Given the description of an element on the screen output the (x, y) to click on. 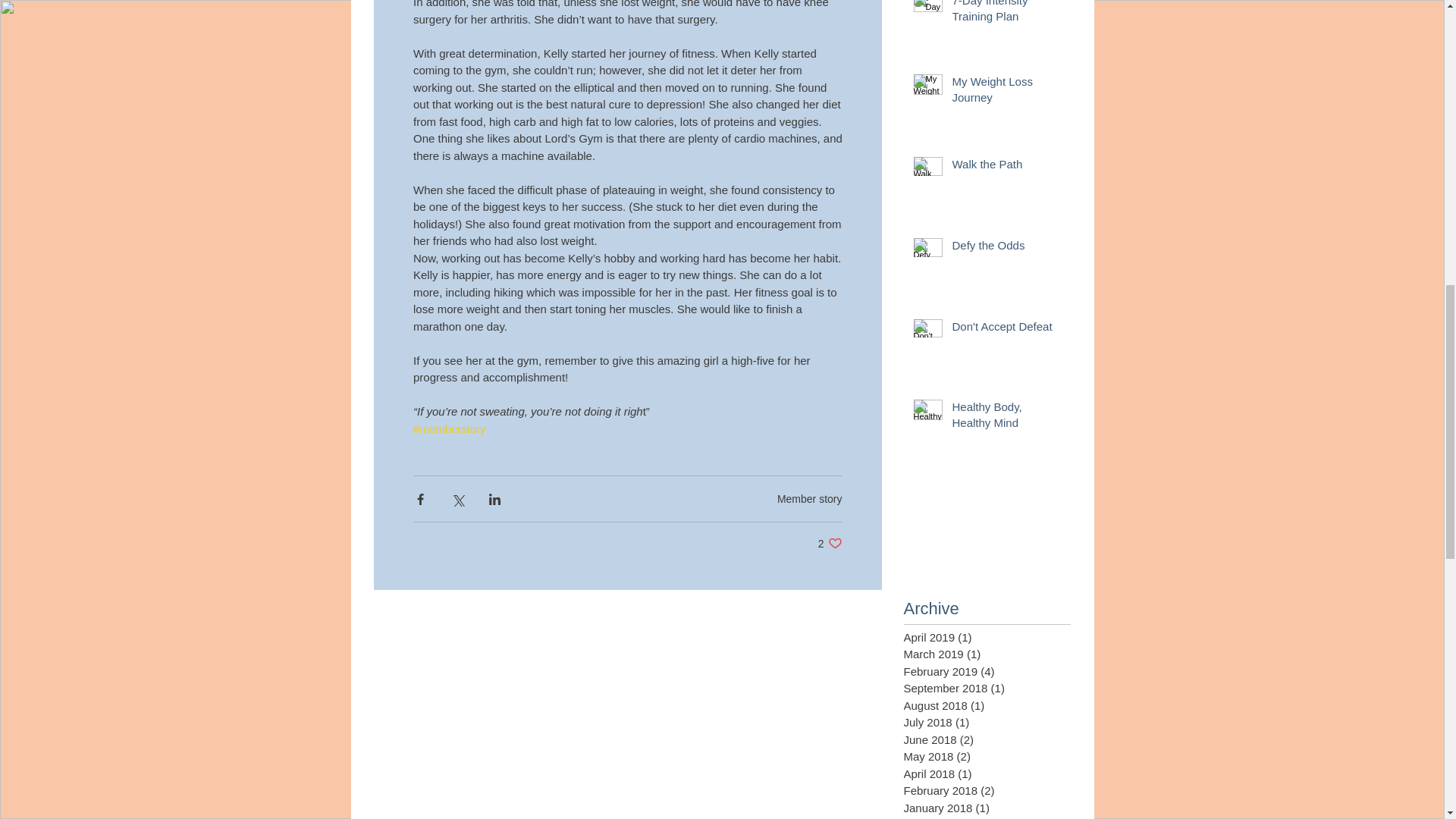
7-Day Intensity Training Plan (1006, 15)
Member story (810, 499)
My Weight Loss Journey (830, 543)
Don't Accept Defeat (1006, 92)
Defy the Odds (1006, 329)
Walk the Path (1006, 248)
Healthy Body, Healthy Mind (1006, 167)
